Given the description of an element on the screen output the (x, y) to click on. 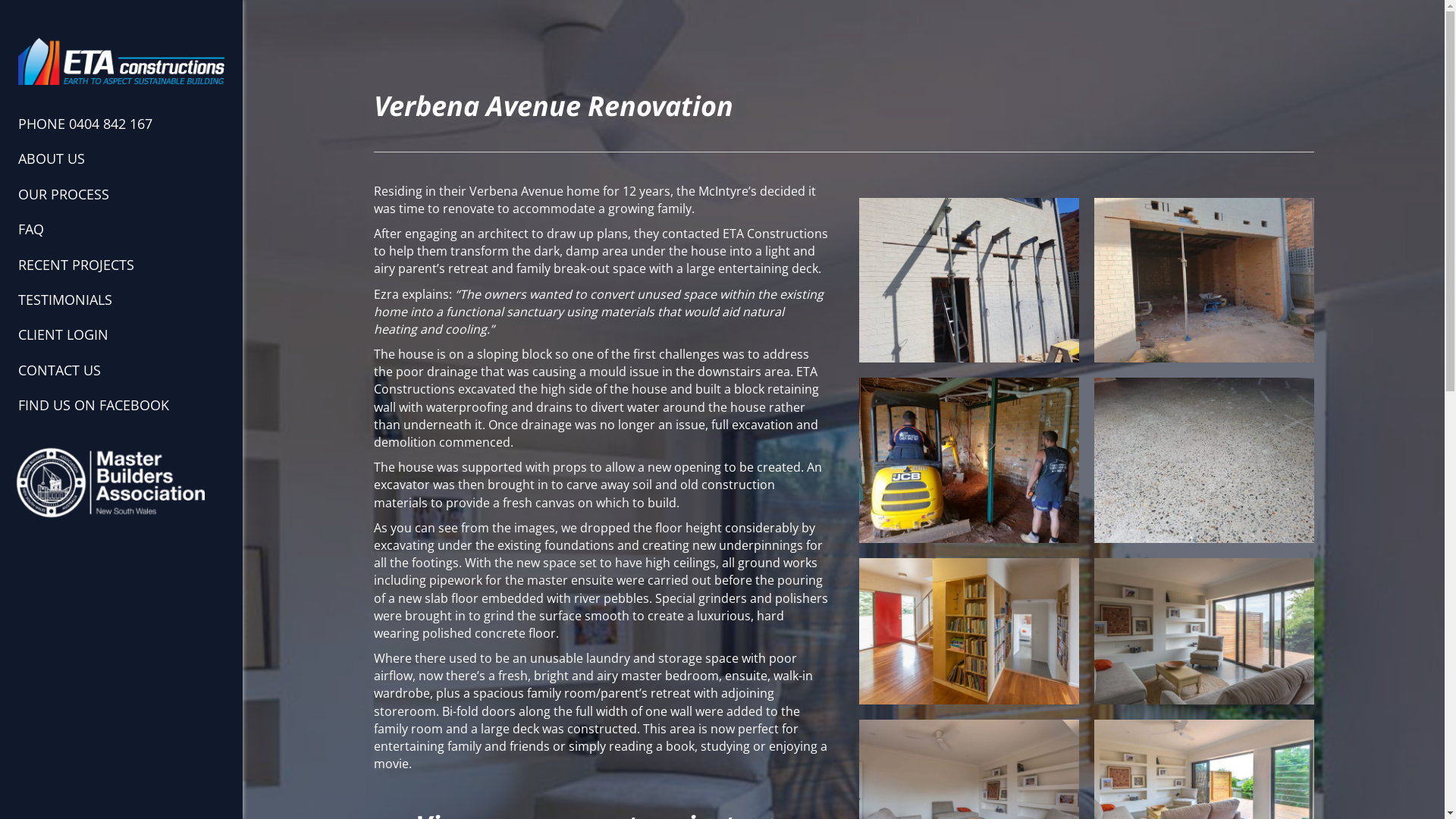
ETA-Constructions-Verbena-Ave-6 Element type: hover (1203, 459)
ETA-Constructions-Verbena-Ave-2 Element type: hover (1203, 280)
ABOUT US Element type: text (51, 164)
OUR PROCESS Element type: text (63, 200)
ETA-Constructions-Verbena-Ave-1 Element type: hover (968, 280)
PHONE 0404 842 167 Element type: text (85, 129)
logo.2 Element type: hover (109, 482)
ETA-Constructions-Verbena-Avenue-1 Element type: hover (968, 631)
CONTACT US Element type: text (59, 375)
RECENT PROJECTS Element type: text (76, 270)
TESTIMONIALS Element type: text (65, 305)
ETA-Constructions-Verbena-Ave-3 Element type: hover (968, 459)
ETA-Constructions-Verbena-Avenue-2 Element type: hover (1203, 631)
FIND US ON FACEBOOK Element type: text (93, 410)
FAQ Element type: text (31, 234)
CLIENT LOGIN Element type: text (63, 340)
